Given the description of an element on the screen output the (x, y) to click on. 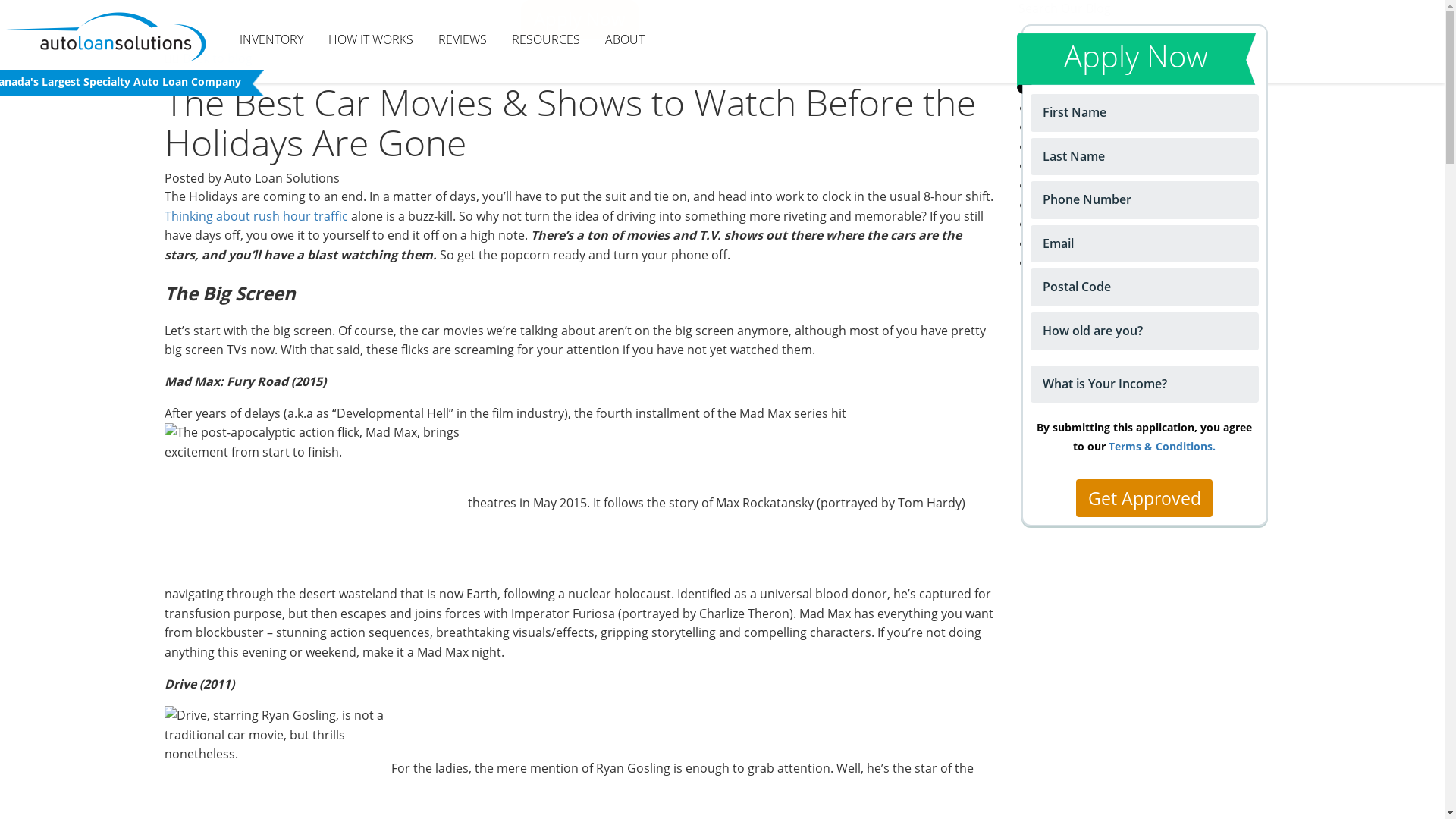
Driving Tips Element type: text (1067, 223)
REVIEWS Element type: text (462, 39)
Technology Element type: text (1066, 243)
Apply Now Element type: text (579, 18)
Get Approved Element type: text (1144, 498)
ABOUT Element type: text (624, 39)
Fun Facts Element type: text (1060, 164)
View All Categories Element type: text (1087, 262)
Thinking about rush hour traffic Element type: text (255, 215)
Finance Tips Element type: text (1068, 203)
Automotive Element type: text (1066, 107)
Back to blog Element type: text (216, 58)
Buying a Car Element type: text (1068, 184)
INVENTORY Element type: text (271, 39)
Credit & Debt Element type: text (1072, 146)
RESOURCES Element type: text (545, 39)
Terms & Conditions. Element type: text (1161, 446)
HOW IT WORKS Element type: text (370, 39)
Search Element type: text (1044, 70)
Resources Element type: text (1063, 126)
